Given the description of an element on the screen output the (x, y) to click on. 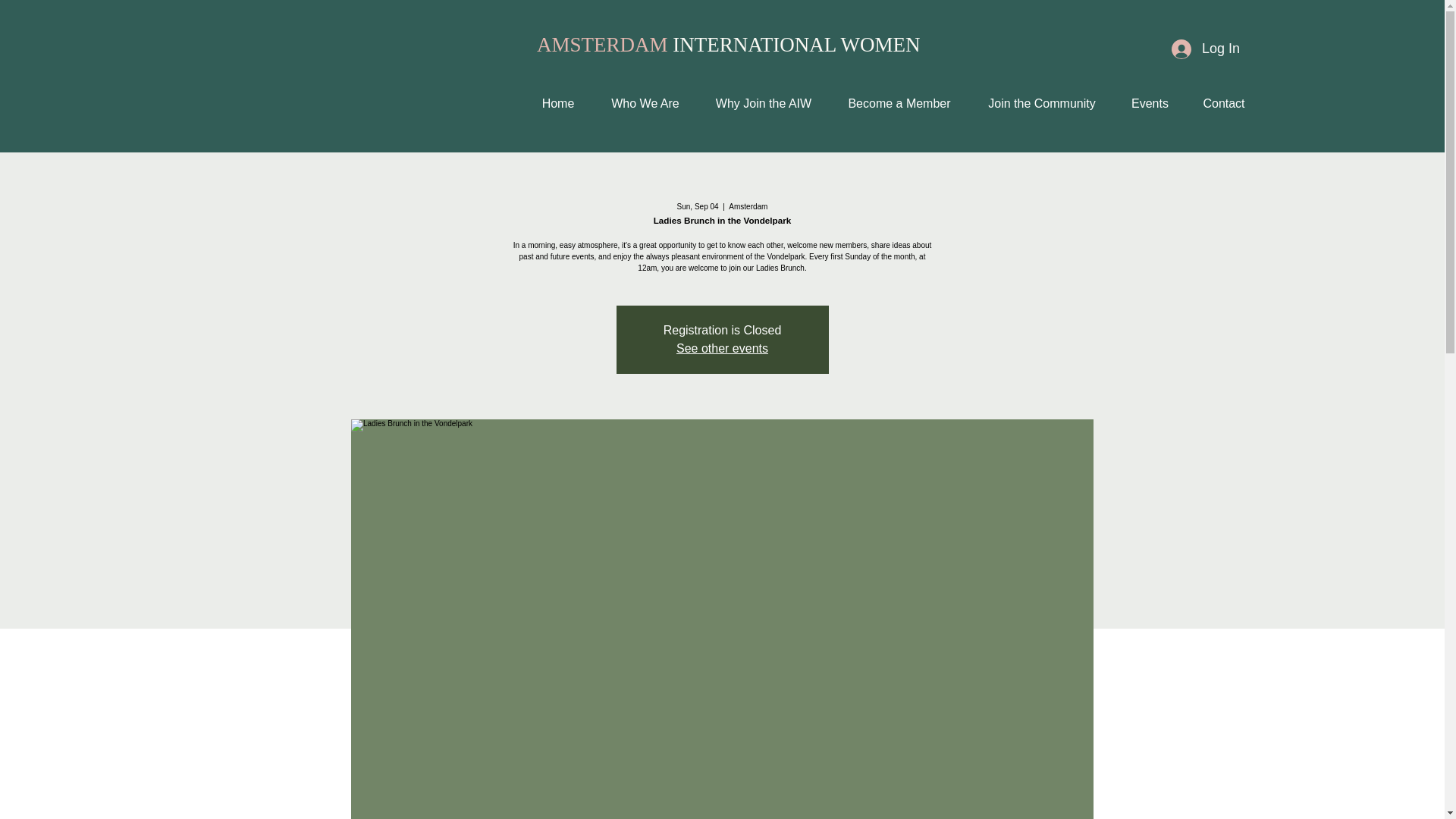
Become a Member (899, 103)
Events (1150, 103)
AMSTERDAM INTERNATIONAL WOMEN (728, 44)
Log In (1205, 49)
Why Join the AIW (763, 103)
See other events (722, 348)
Contact (1223, 103)
Who We Are (644, 103)
Join the Community (1042, 103)
Home (557, 103)
